Given the description of an element on the screen output the (x, y) to click on. 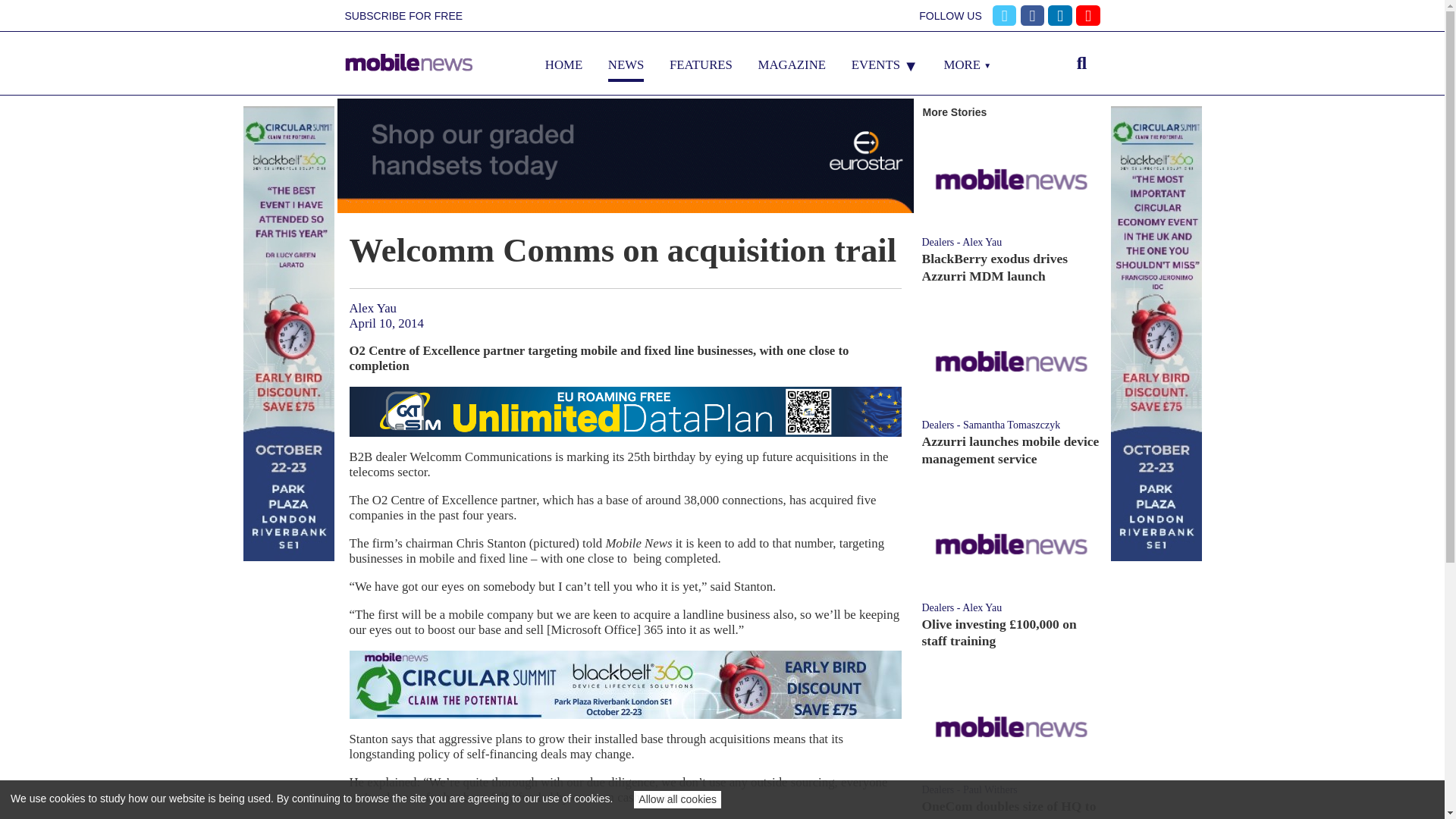
MAGAZINE (792, 64)
NEWS (626, 64)
HOME (563, 64)
FEATURES (700, 64)
SUBSCRIBE FOR FREE (403, 15)
